Given the description of an element on the screen output the (x, y) to click on. 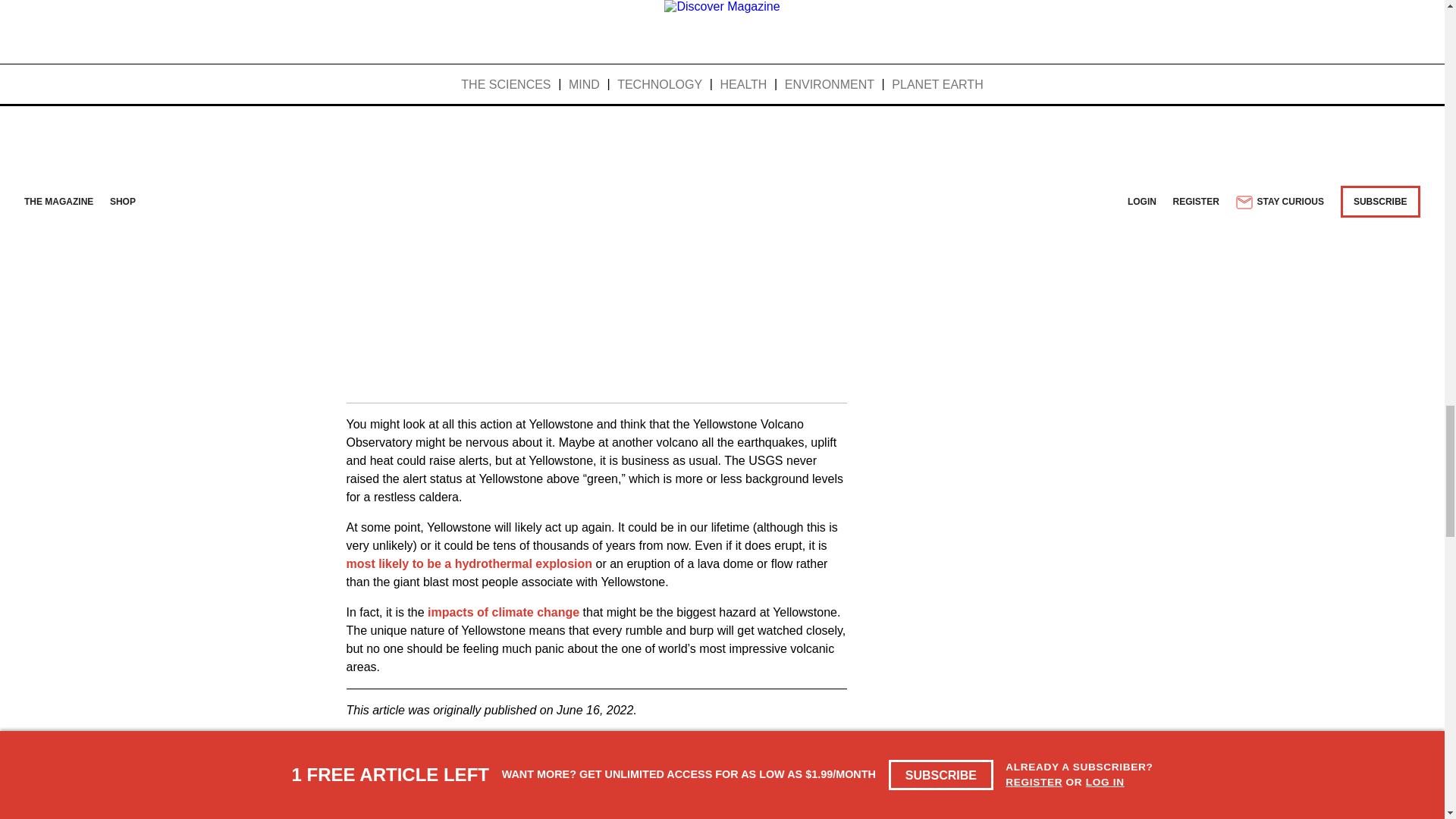
earth science (390, 753)
natural disasters (496, 753)
impacts of climate change (503, 612)
most likely to be a hydrothermal explosion (469, 563)
